Given the description of an element on the screen output the (x, y) to click on. 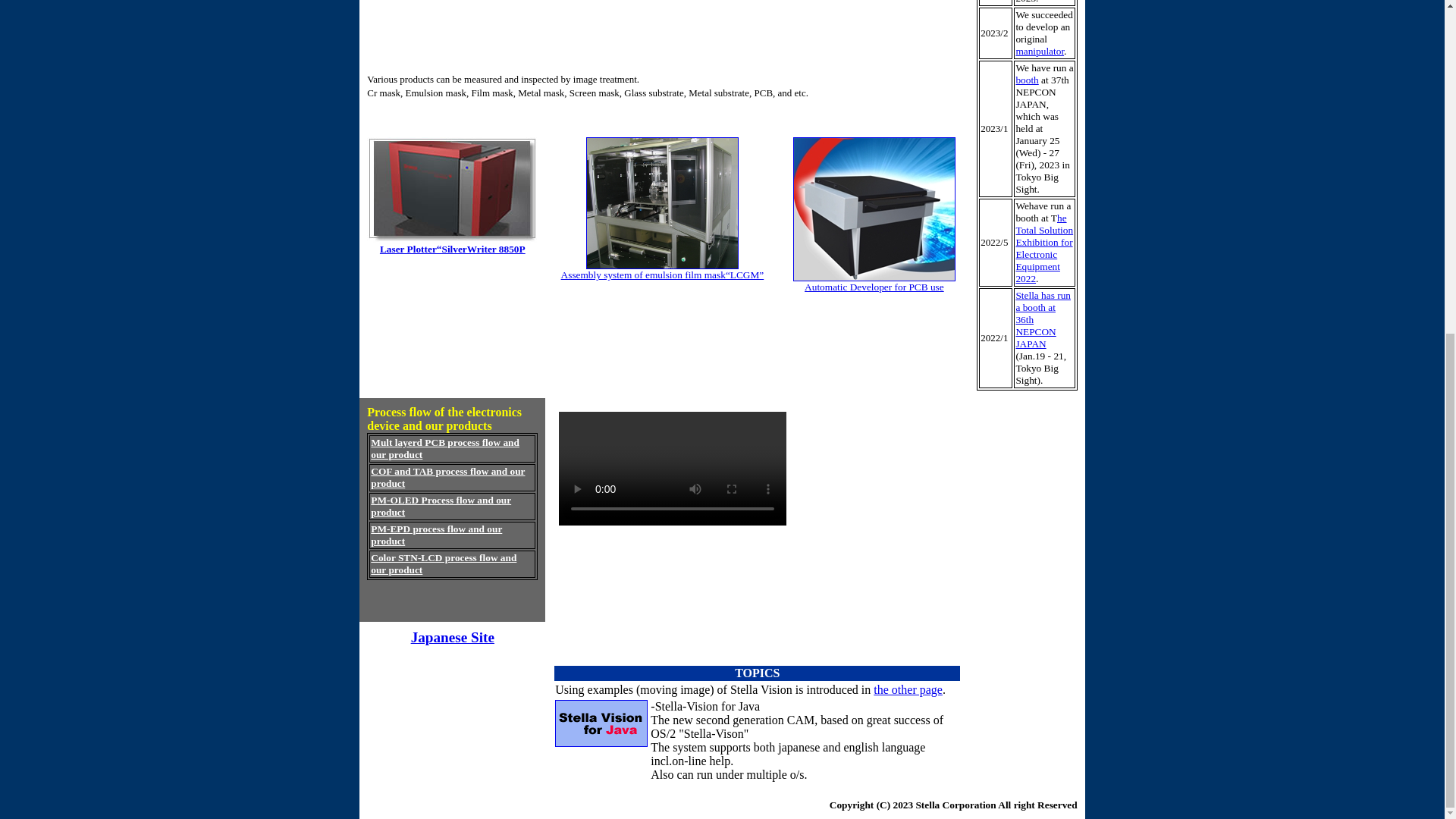
PM-EPD process flow and our product (436, 535)
Japanese Site (452, 637)
Color STN-LCD process flow and our product (443, 563)
booth (1026, 79)
Mult layerd PCB process flow and our product (445, 448)
Stella has run a booth at 36th NEPCON JAPAN (1042, 319)
COF and TAB process flow and our product (447, 477)
PM-OLED Process flow and our product (441, 505)
Automatic Developer for PCB use (874, 286)
the other page (907, 689)
